Given the description of an element on the screen output the (x, y) to click on. 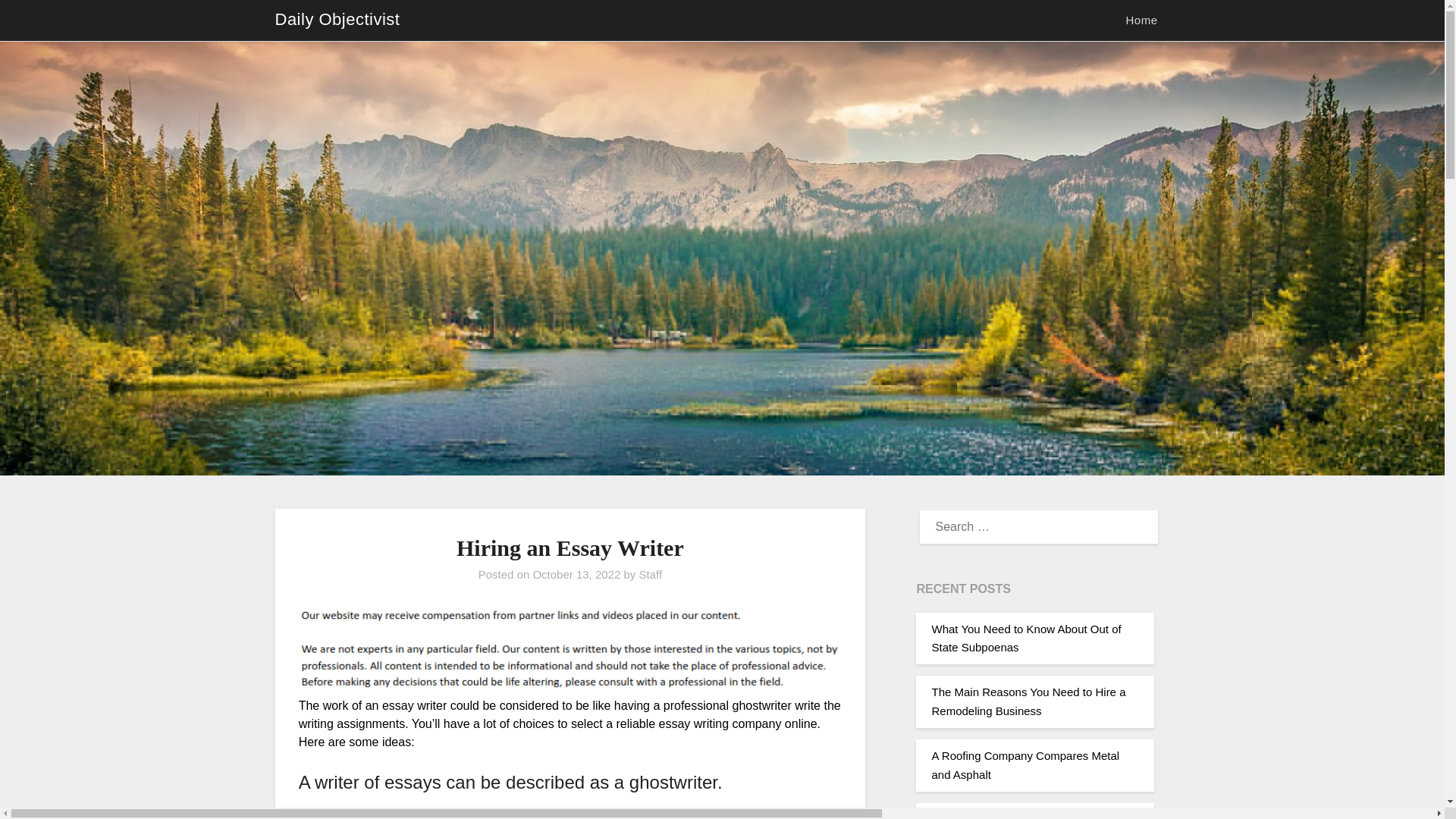
Search (38, 22)
Staff (650, 574)
Home (1141, 20)
How to Fill Your Weekend (996, 816)
The Main Reasons You Need to Hire a Remodeling Business (1028, 700)
Daily Objectivist (336, 19)
A Roofing Company Compares Metal and Asphalt (1025, 764)
What You Need to Know About Out of State Subpoenas (1026, 637)
October 13, 2022 (576, 574)
